Given the description of an element on the screen output the (x, y) to click on. 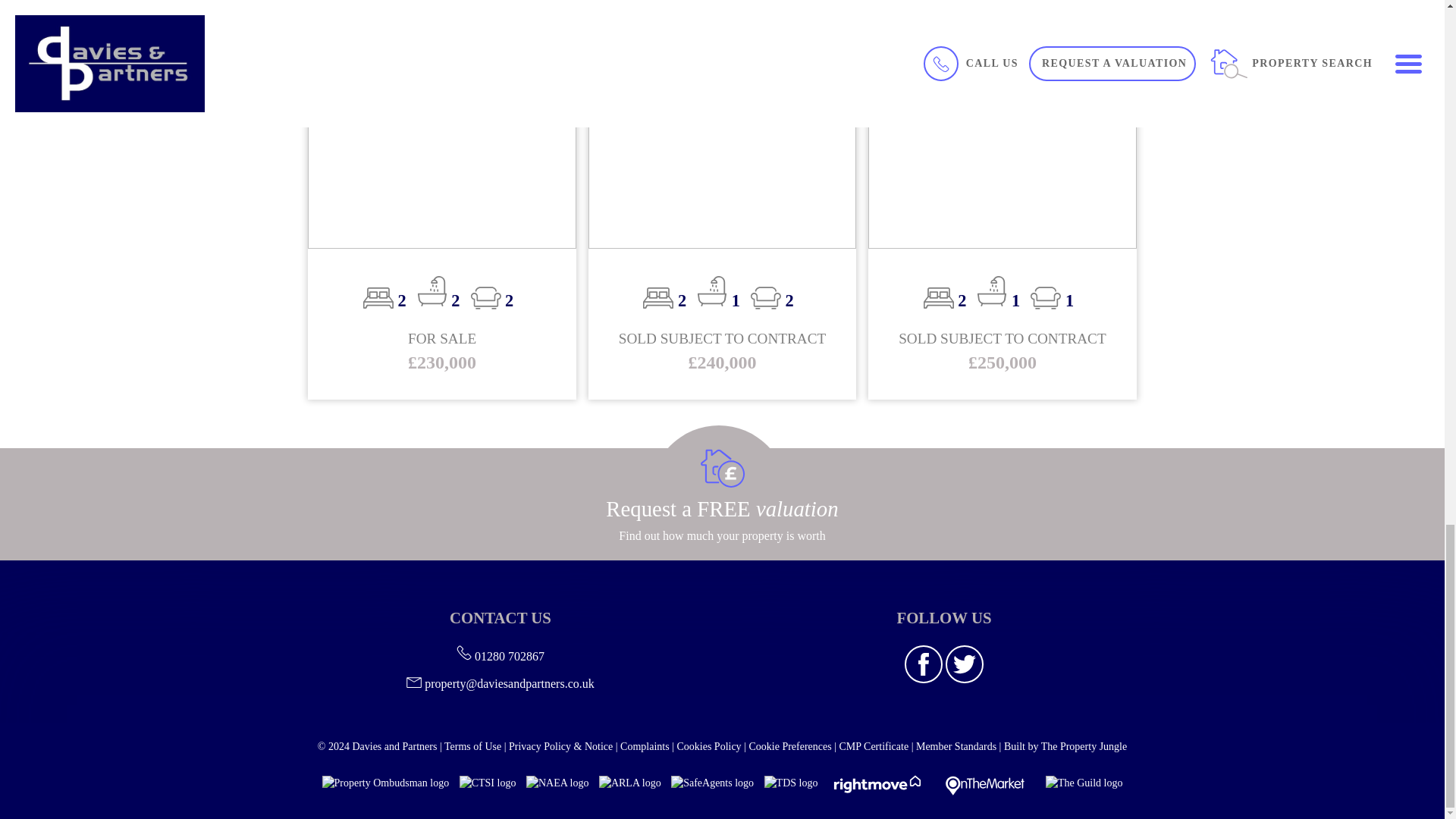
Website Built by The Property Jungle (1065, 746)
Terms of Use (472, 746)
Privacy Policy (560, 746)
